Given the description of an element on the screen output the (x, y) to click on. 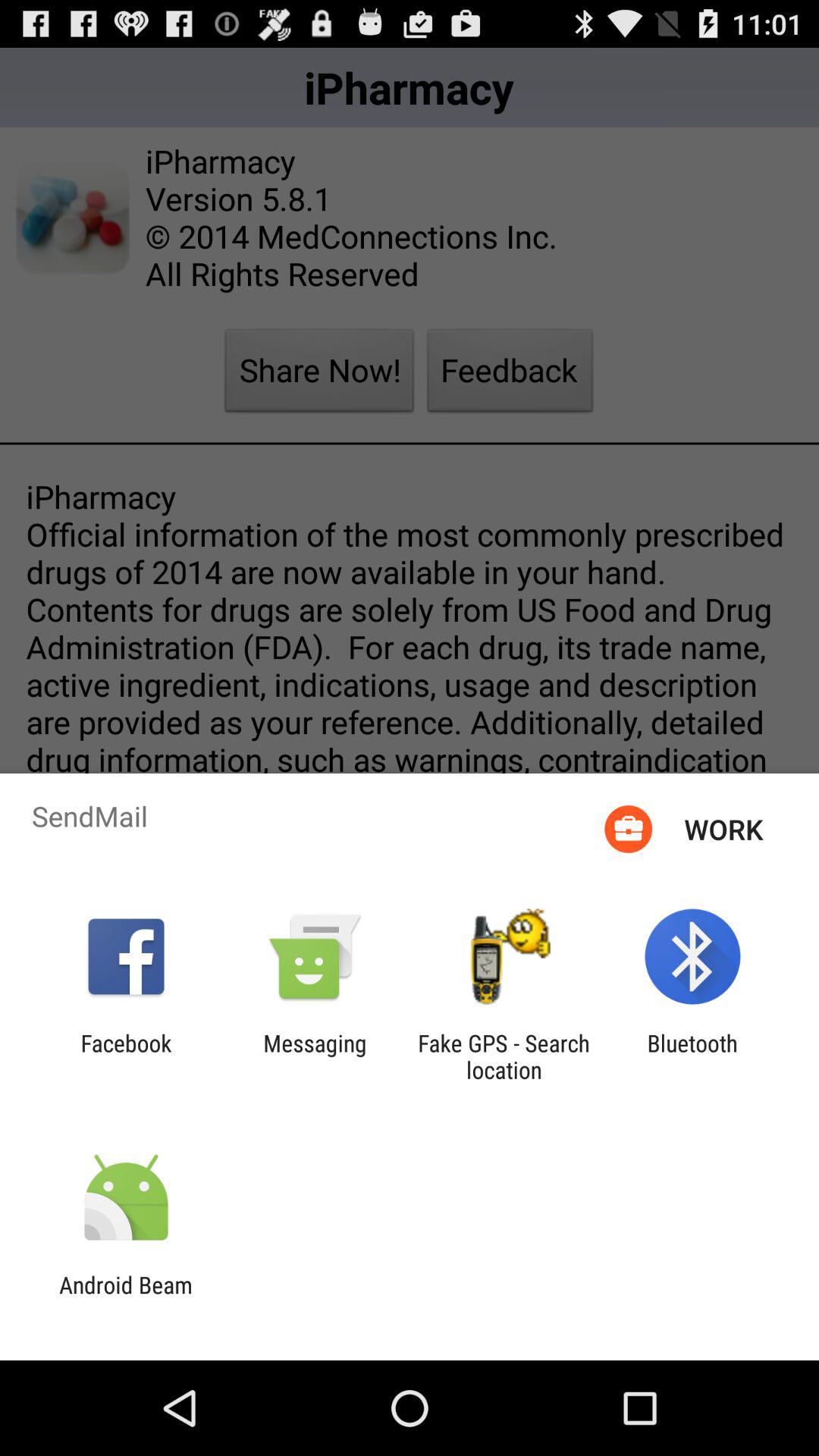
choose the icon next to the messaging item (503, 1056)
